Given the description of an element on the screen output the (x, y) to click on. 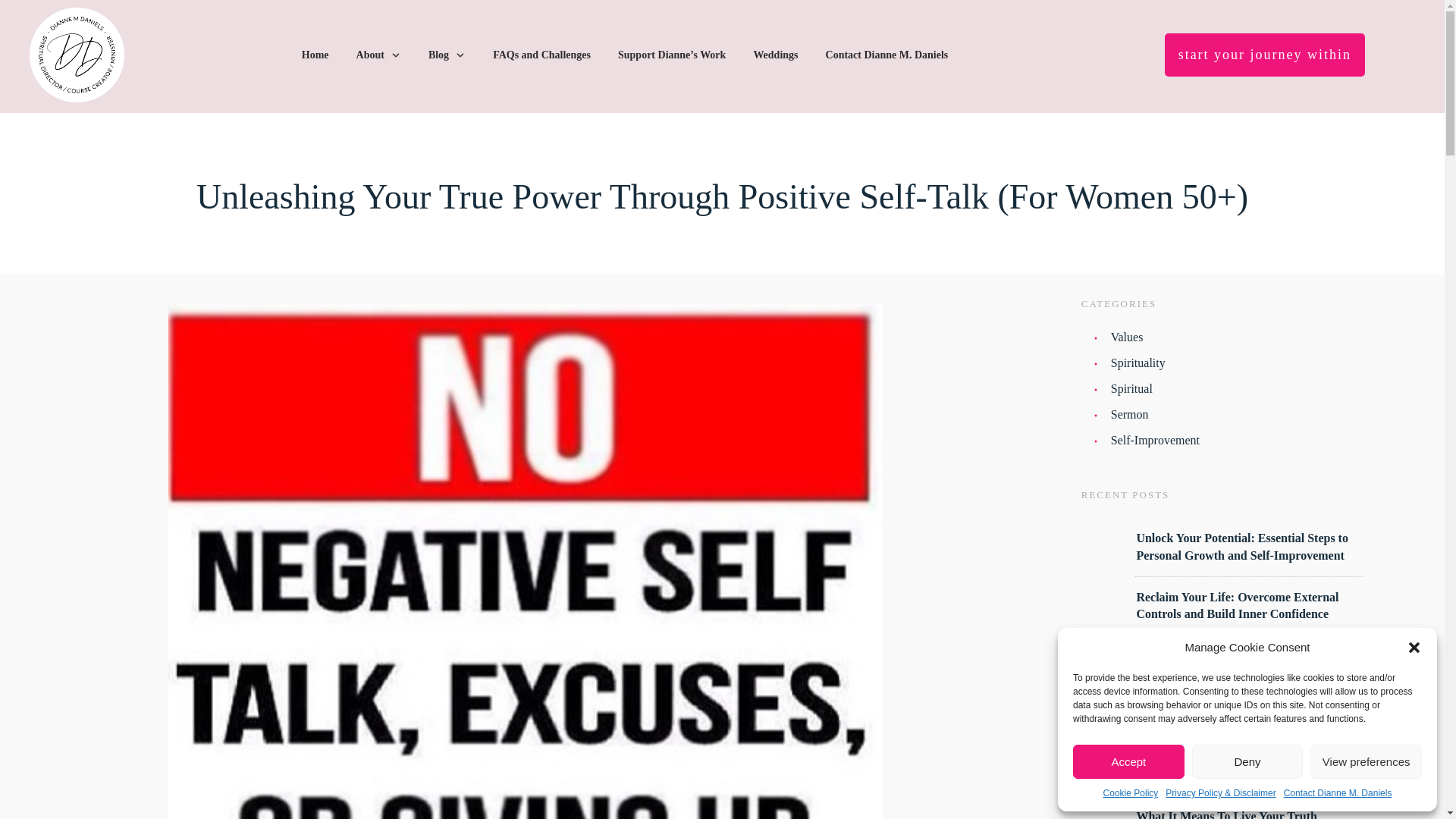
Personal Freedom Brings You Happiness (1241, 656)
Contact Dianne M. Daniels (1337, 793)
Accept (1129, 761)
About (378, 54)
What It Means To Live Your Truth (1226, 814)
Deny (1247, 761)
Weddings (774, 54)
Contact Dianne M. Daniels (887, 54)
Are You Stuck in a Rut, or Are You Free to Change Your Life? (1245, 765)
start your journey within (1264, 54)
Cookie Policy (1130, 793)
FAQs and Challenges (542, 54)
Home (315, 54)
